Given the description of an element on the screen output the (x, y) to click on. 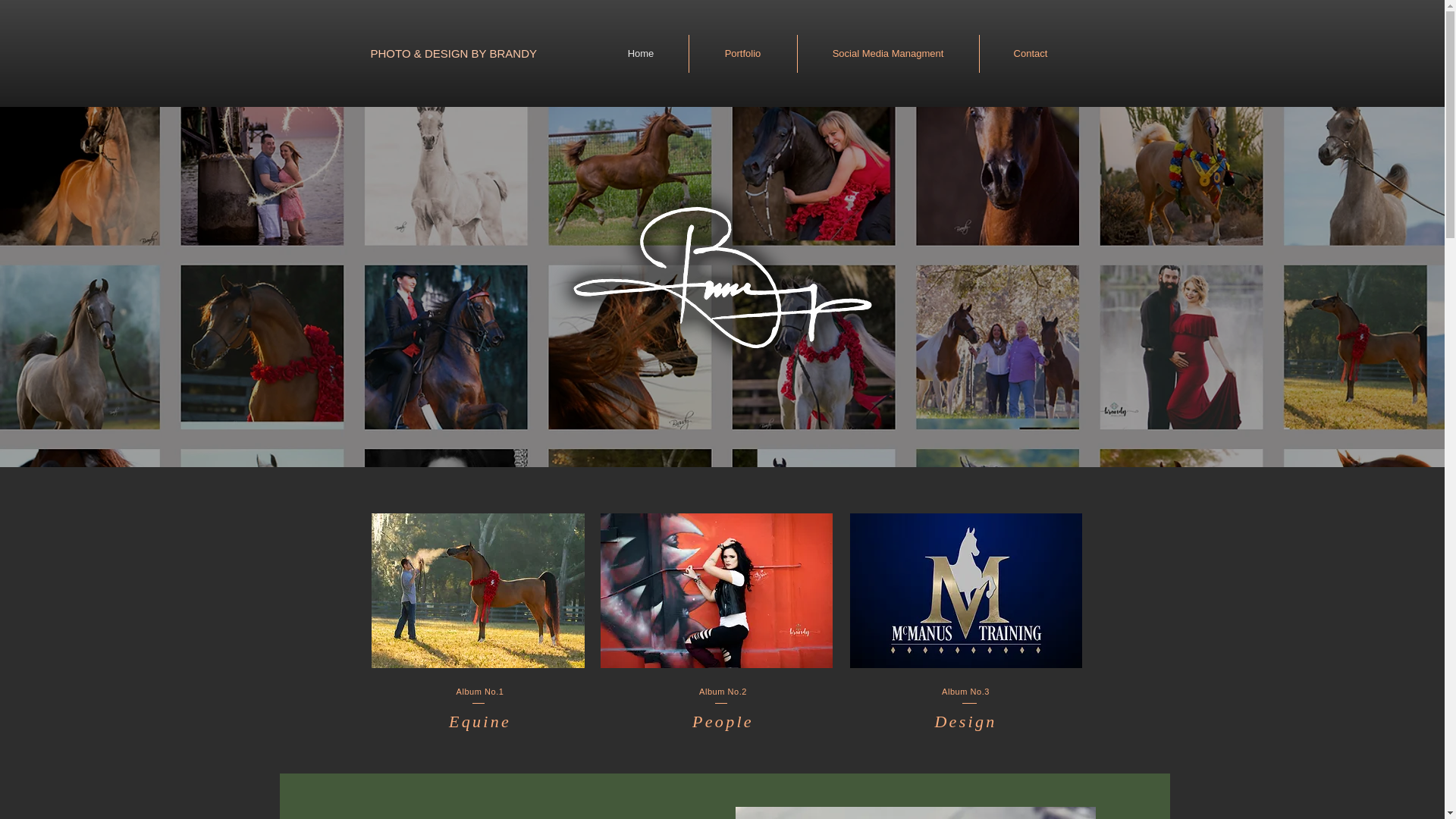
Portfolio (742, 53)
Contact (1030, 53)
Home (639, 53)
Social Media Managment (887, 53)
